Given the description of an element on the screen output the (x, y) to click on. 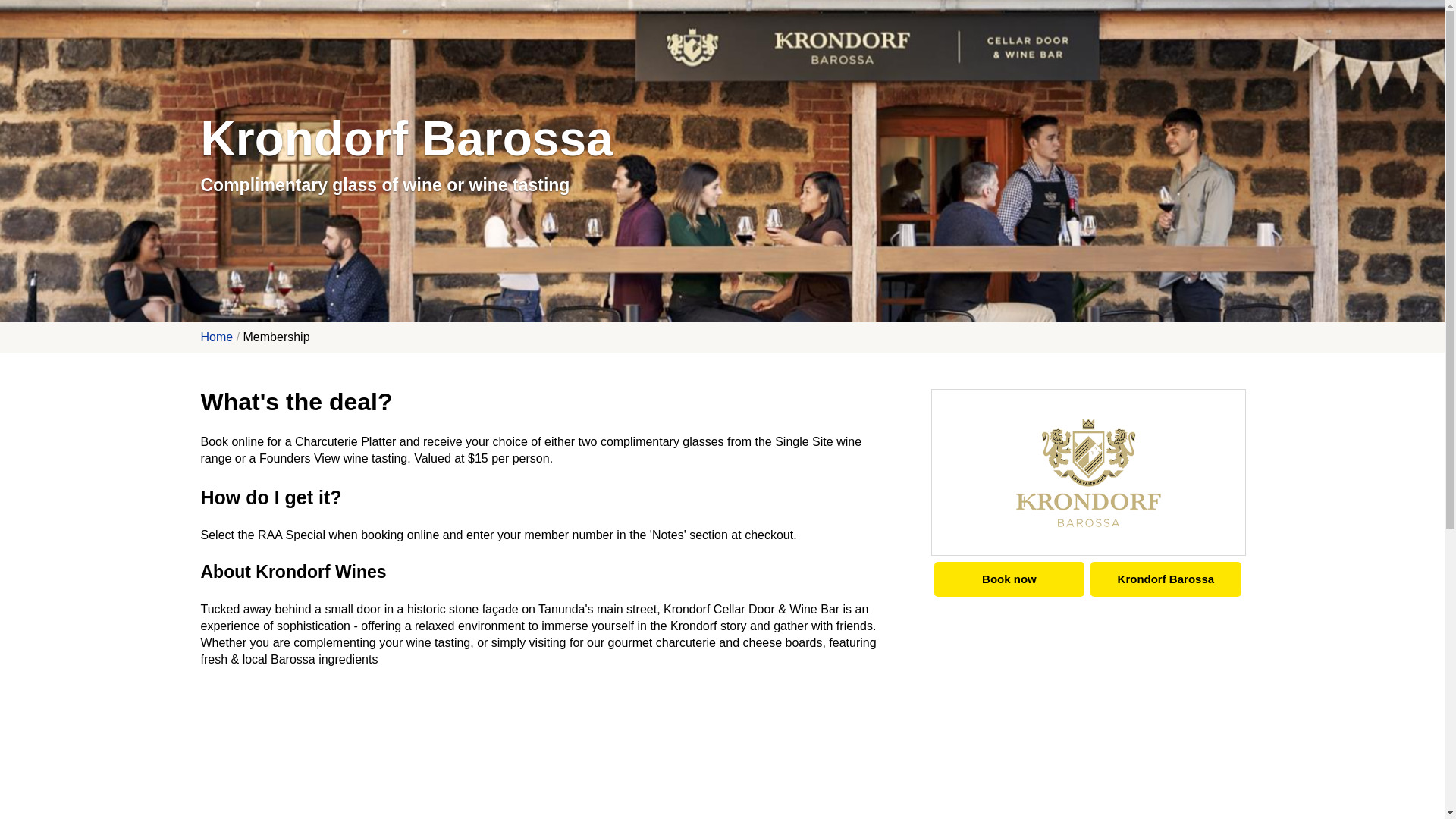
Book now (1009, 579)
Home (216, 336)
Krondorf Barossa (1165, 579)
Home (216, 336)
